Given the description of an element on the screen output the (x, y) to click on. 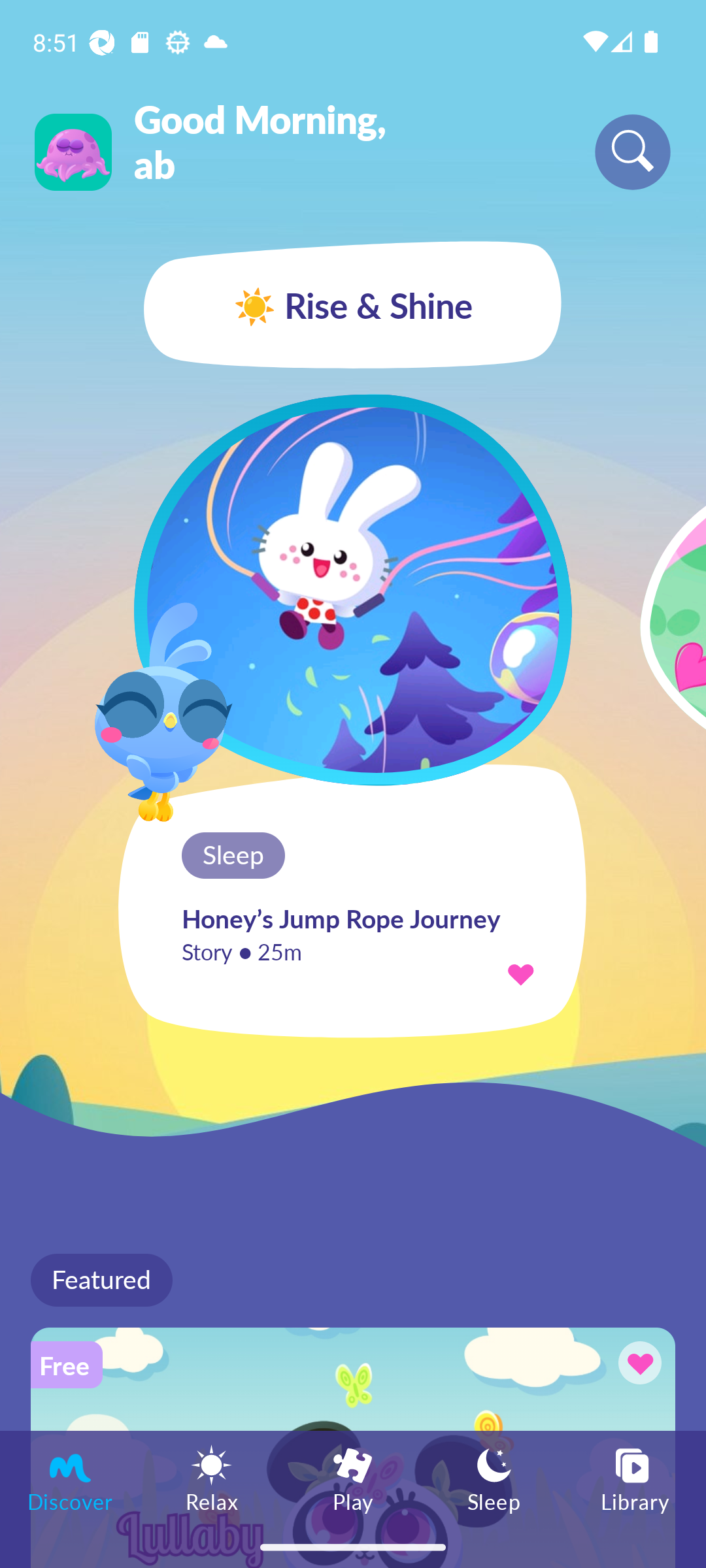
Search (632, 151)
action (520, 973)
Button (636, 1365)
Relax (211, 1478)
Play (352, 1478)
Sleep (493, 1478)
Library (635, 1478)
